Given the description of an element on the screen output the (x, y) to click on. 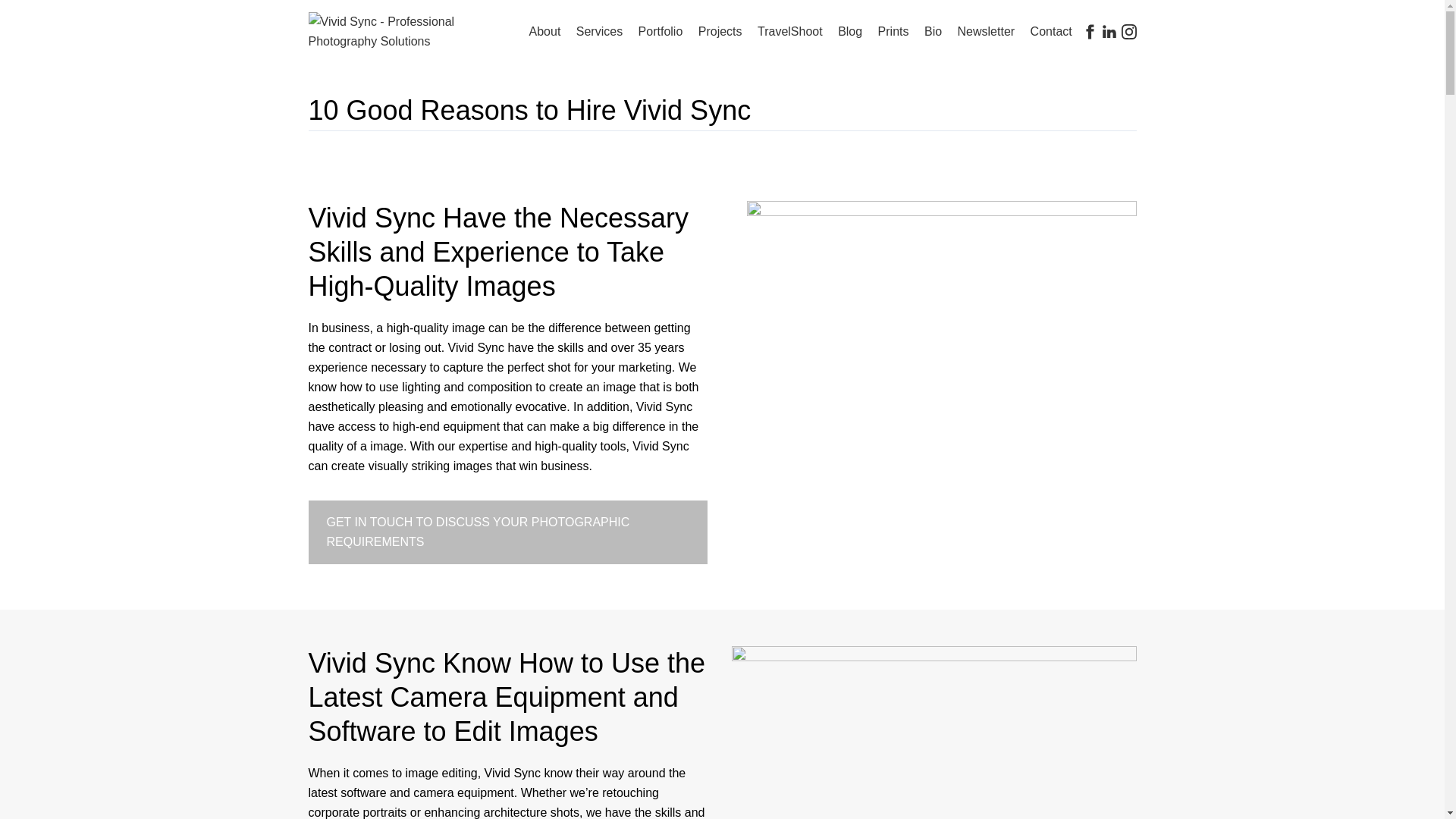
Portfolio (660, 31)
Projects (720, 31)
Newsletter (986, 31)
Vivid Sync - Professional Photography Solutions (404, 31)
TravelShoot (789, 31)
Services (599, 31)
